Given the description of an element on the screen output the (x, y) to click on. 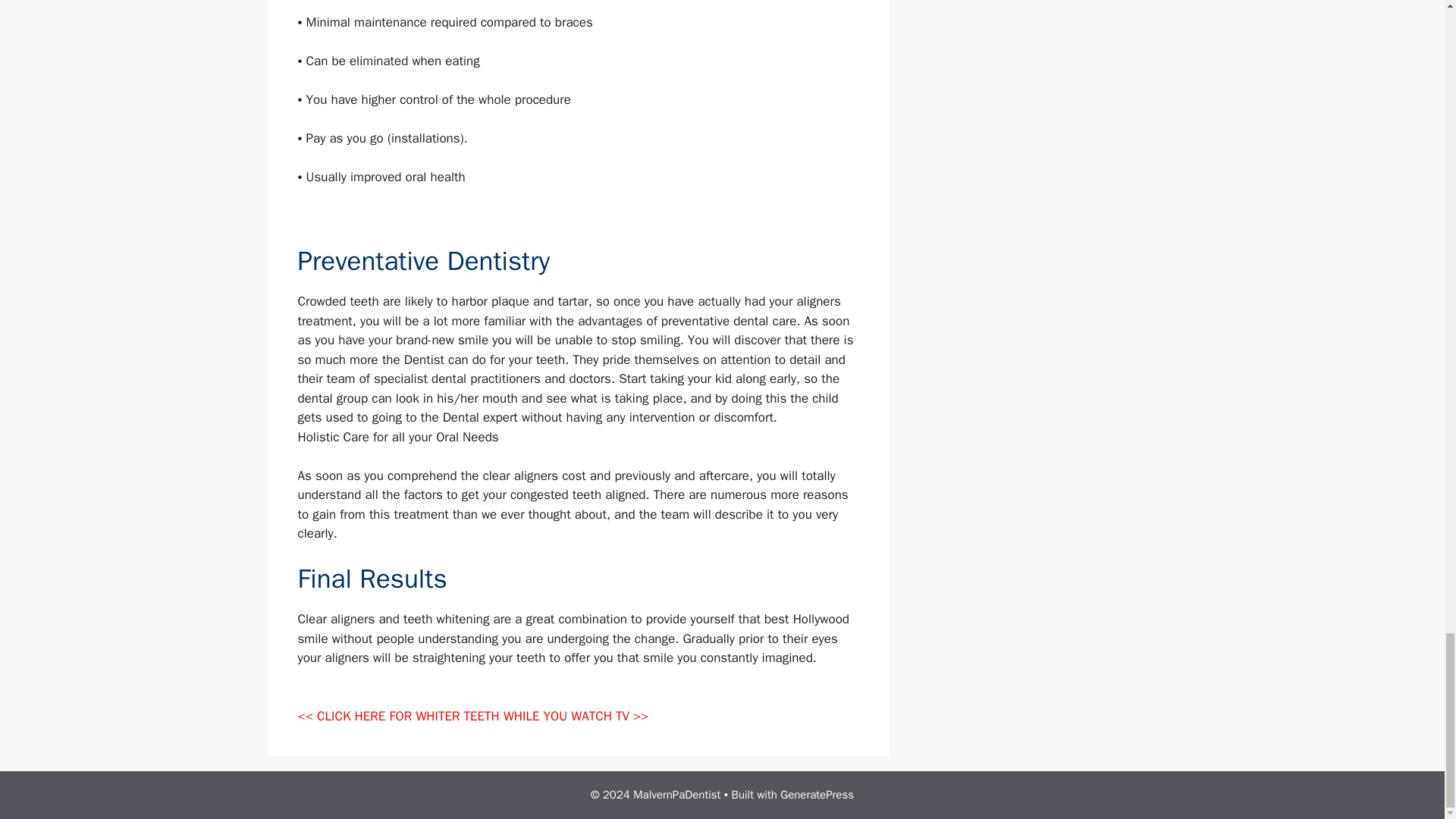
GeneratePress (816, 794)
